Given the description of an element on the screen output the (x, y) to click on. 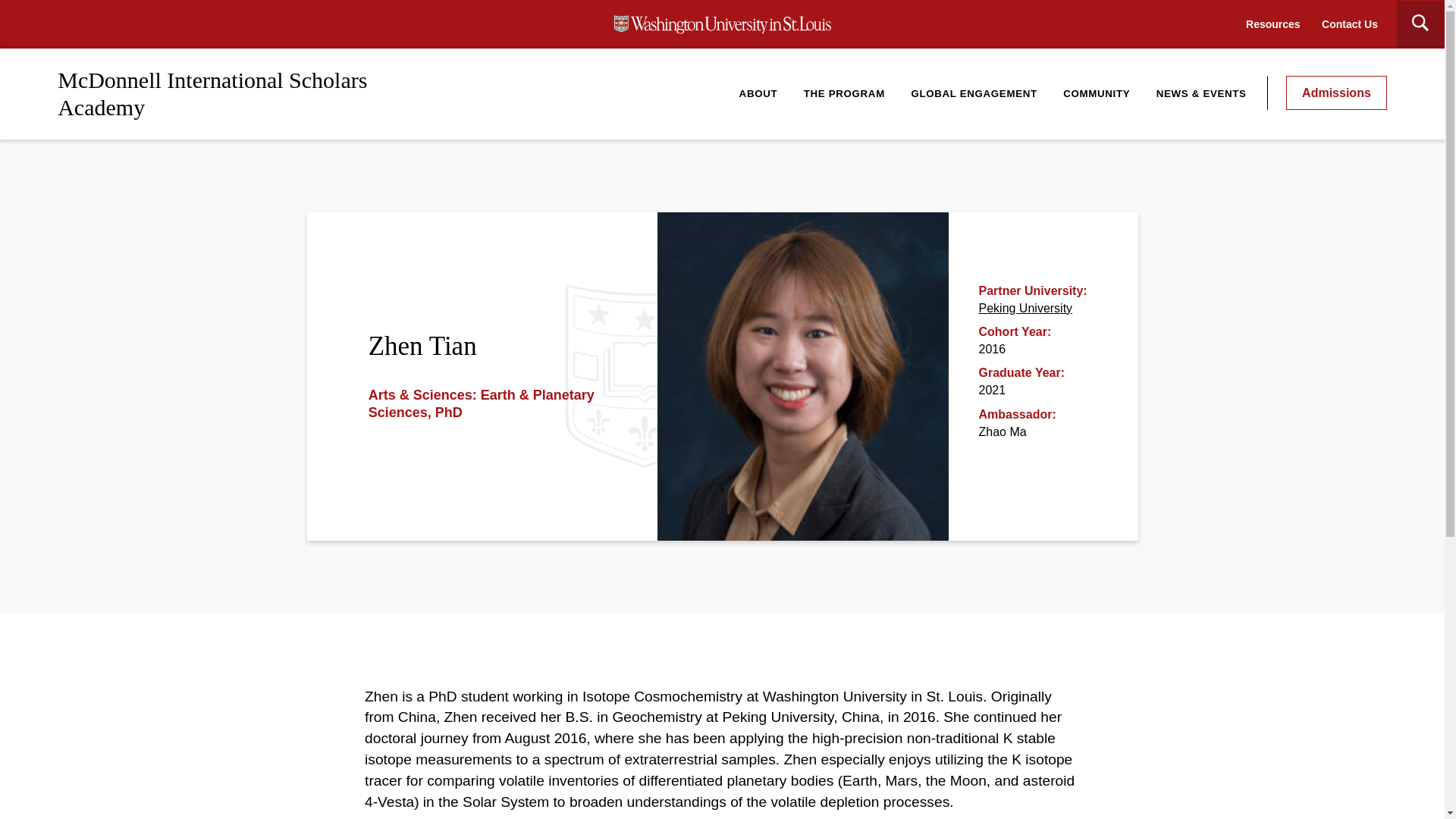
COMMUNITY (1096, 93)
Contact Us (1349, 23)
Peking University (1024, 308)
GLOBAL ENGAGEMENT (973, 93)
Admissions (1336, 92)
Resources (1273, 23)
McDonnell International Scholars Academy (212, 93)
THE PROGRAM (844, 93)
ABOUT (758, 93)
